Given the description of an element on the screen output the (x, y) to click on. 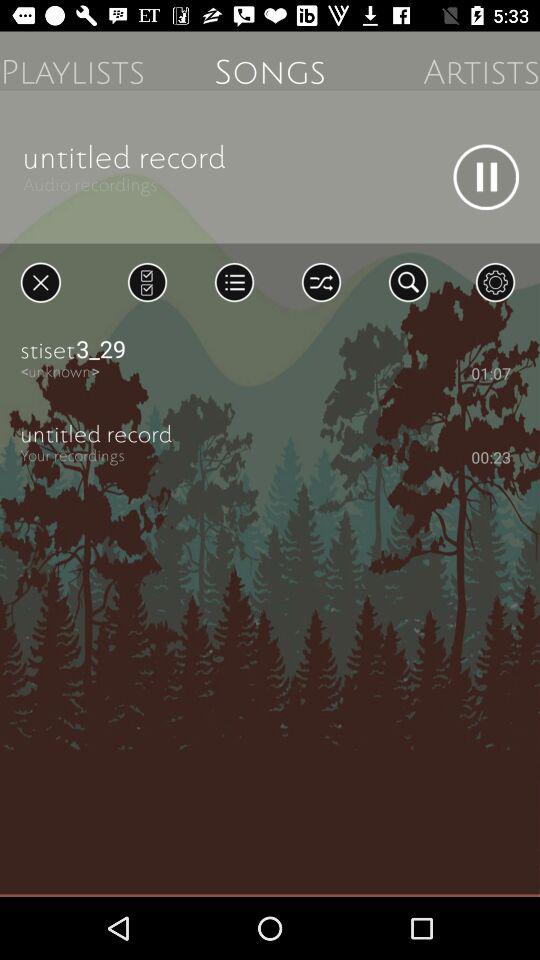
search the playlists (408, 282)
